Given the description of an element on the screen output the (x, y) to click on. 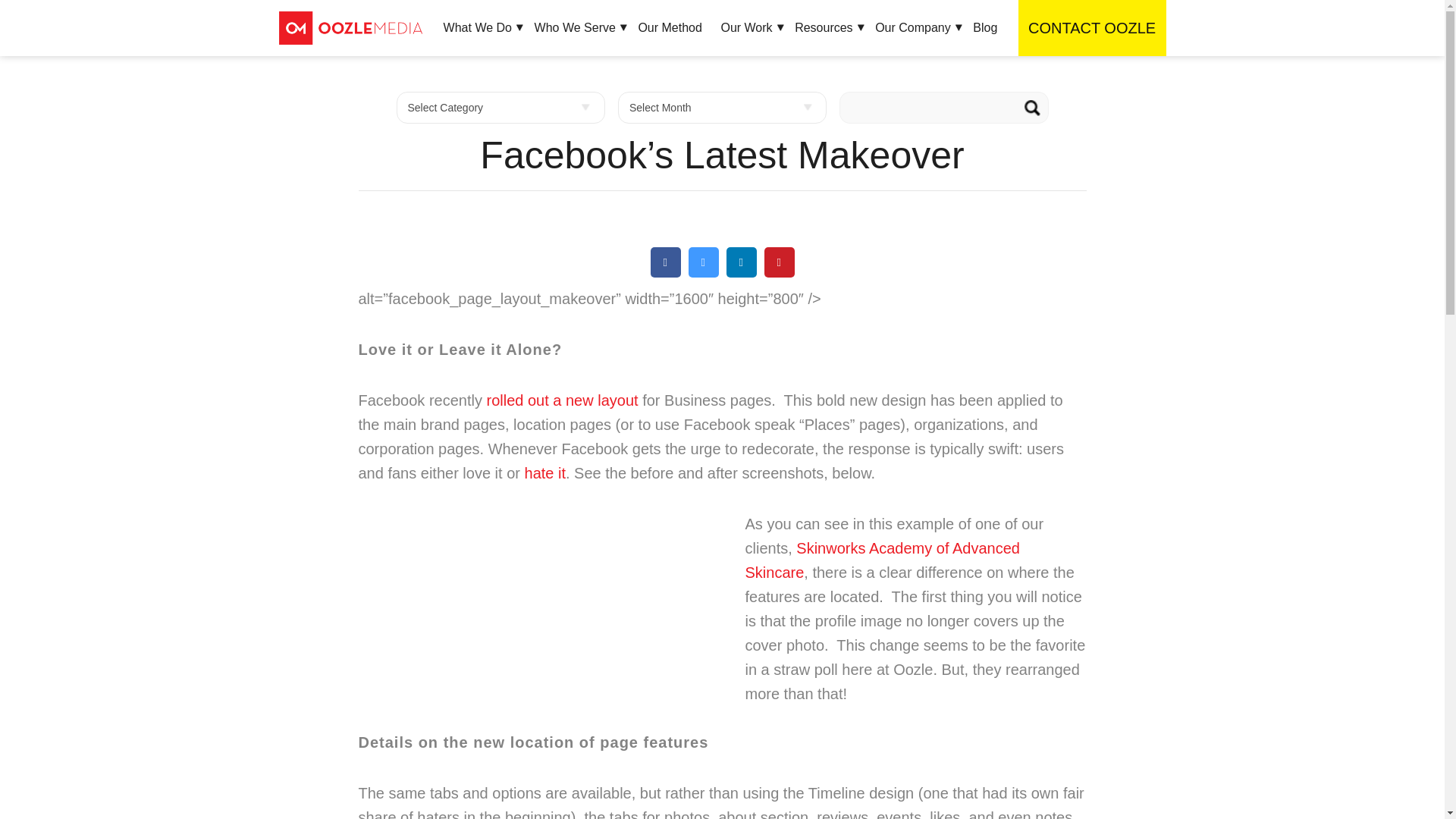
Share on Pinterest (779, 273)
Search (1032, 107)
Share on Twitter (703, 273)
Share on Facebook (665, 273)
Share to LinkedIn (741, 273)
